Given the description of an element on the screen output the (x, y) to click on. 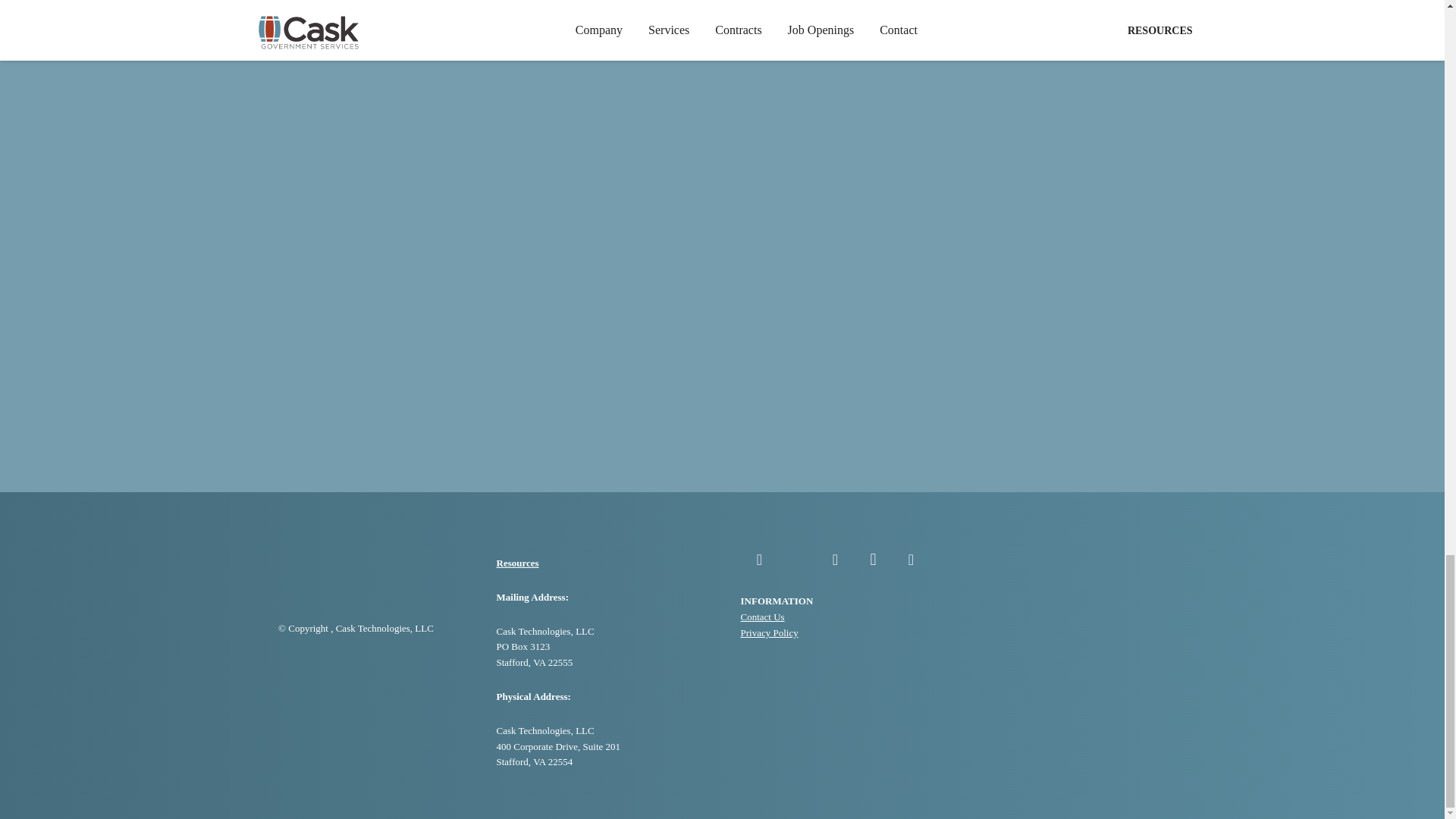
Contact Us (761, 616)
YouTube (910, 559)
LinkedIn (834, 559)
Privacy Policy (768, 632)
Instagram (872, 559)
Facebook (758, 559)
Resources (517, 562)
